Given the description of an element on the screen output the (x, y) to click on. 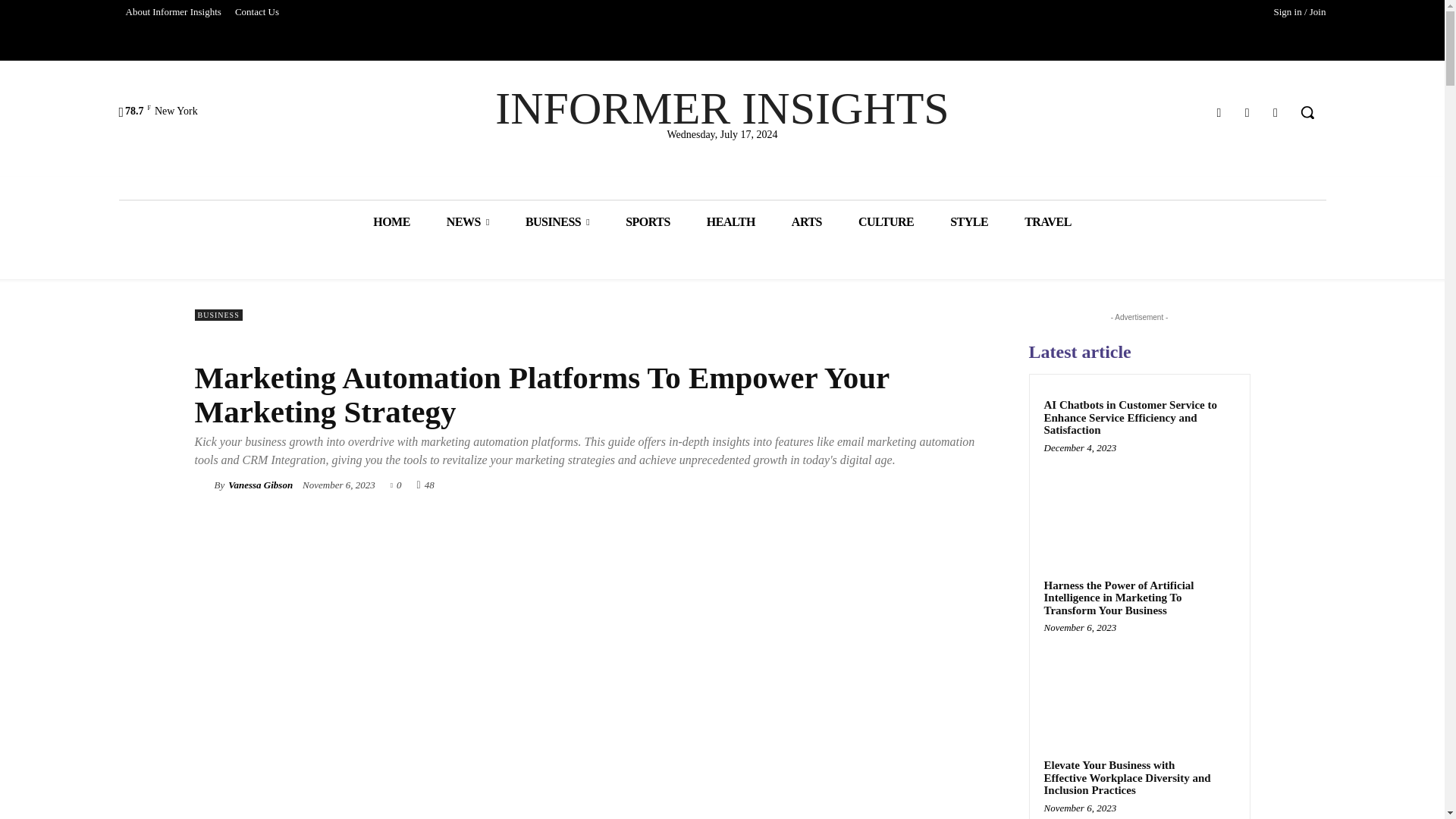
Twitter (1275, 112)
Contact Us (256, 12)
Instagram (1246, 112)
HOME (391, 221)
Facebook (1218, 112)
About Informer Insights (172, 12)
NEWS (467, 221)
INFORMER INSIGHTS (721, 108)
Informer Insights (721, 108)
